Given the description of an element on the screen output the (x, y) to click on. 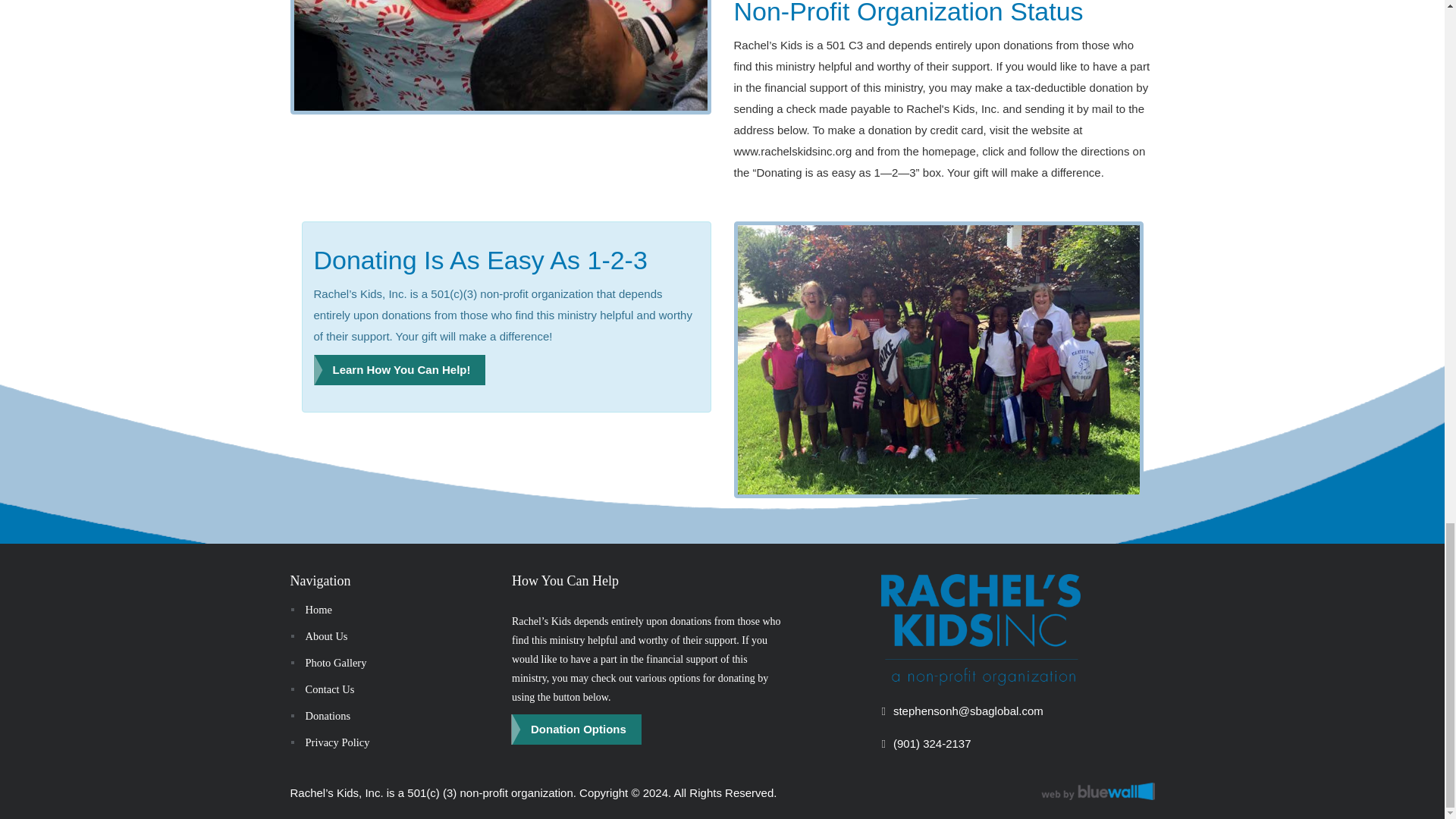
Contact Us (321, 689)
Web Design and Hosting by Bluewall (1097, 791)
Children Decorating Christmas Cookies (499, 57)
Learn How You Can Help! (400, 369)
Rachel and children standing outside (937, 359)
Privacy Policy (329, 742)
Donation Options (577, 729)
Donations (319, 715)
About Us (318, 635)
Home (310, 609)
